Given the description of an element on the screen output the (x, y) to click on. 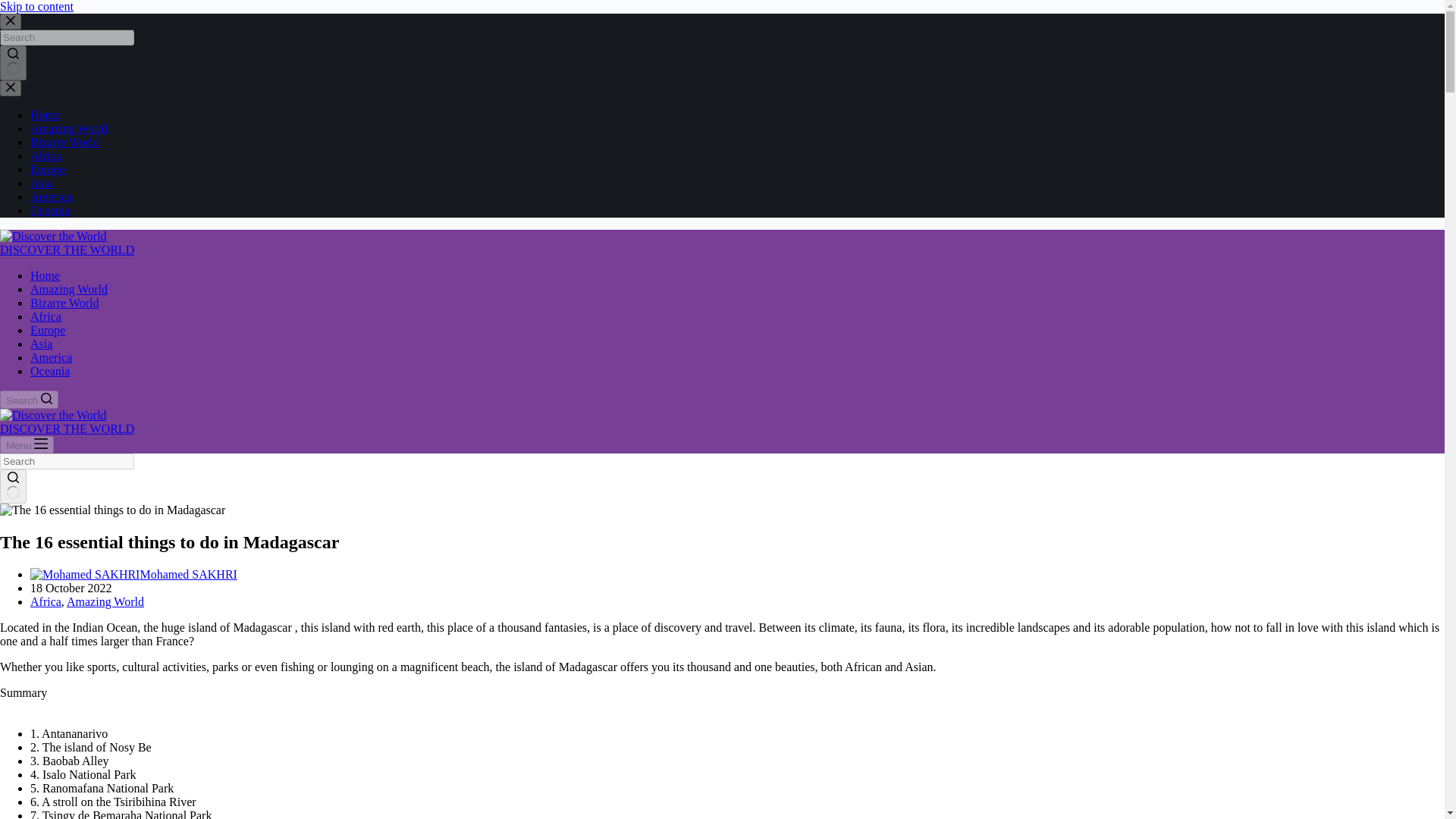
Home (44, 275)
Europe (47, 169)
Posts by Mohamed SAKHRI (187, 574)
Europe (47, 329)
Bizarre World (64, 141)
DISCOVER THE WORLD (66, 428)
Amazing World (105, 601)
Mohamed SAKHRI (187, 574)
Amazing World (68, 128)
Africa (45, 316)
